Given the description of an element on the screen output the (x, y) to click on. 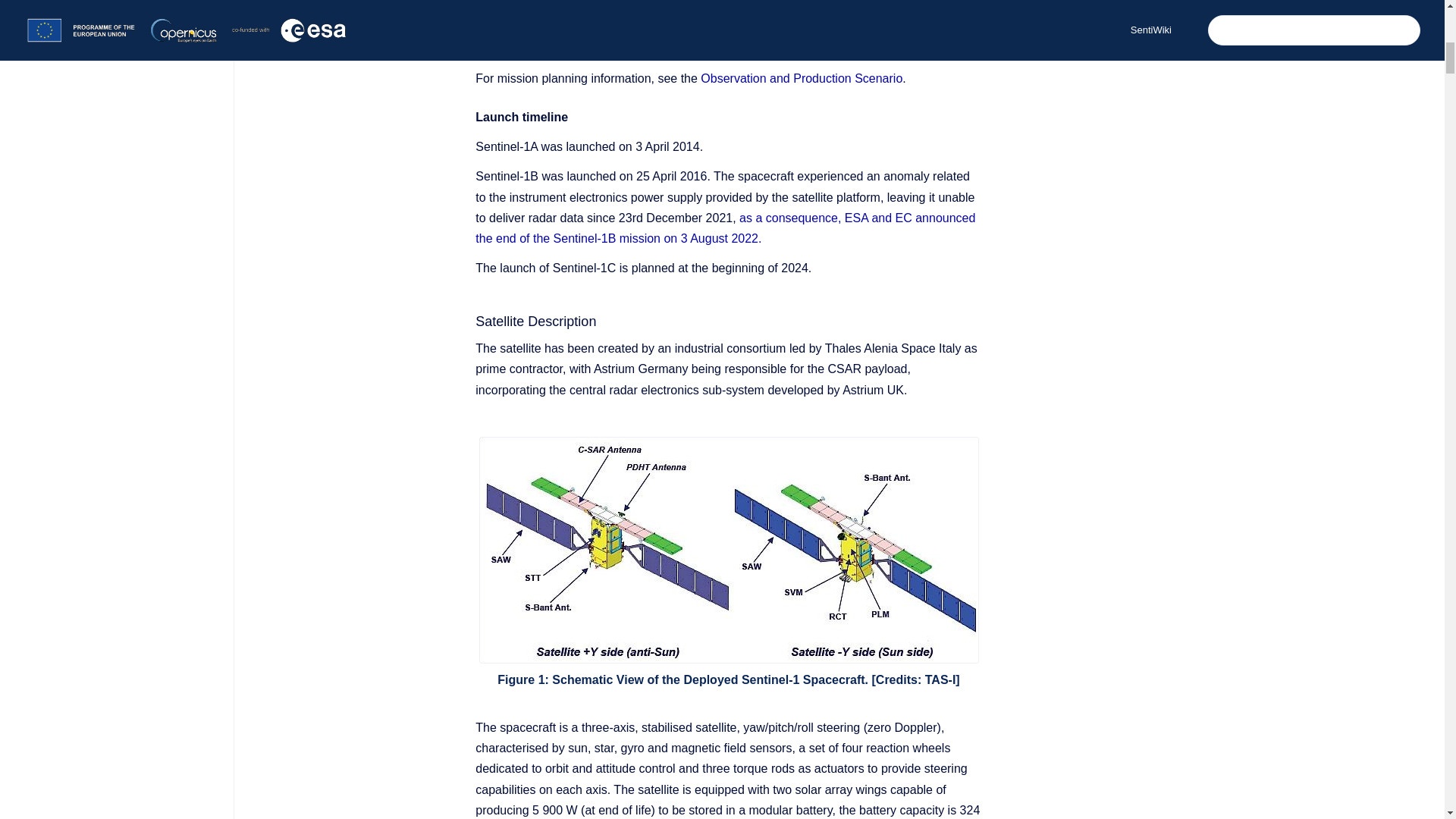
Emergency response (565, 0)
Observation and Production Scenario (801, 78)
